Given the description of an element on the screen output the (x, y) to click on. 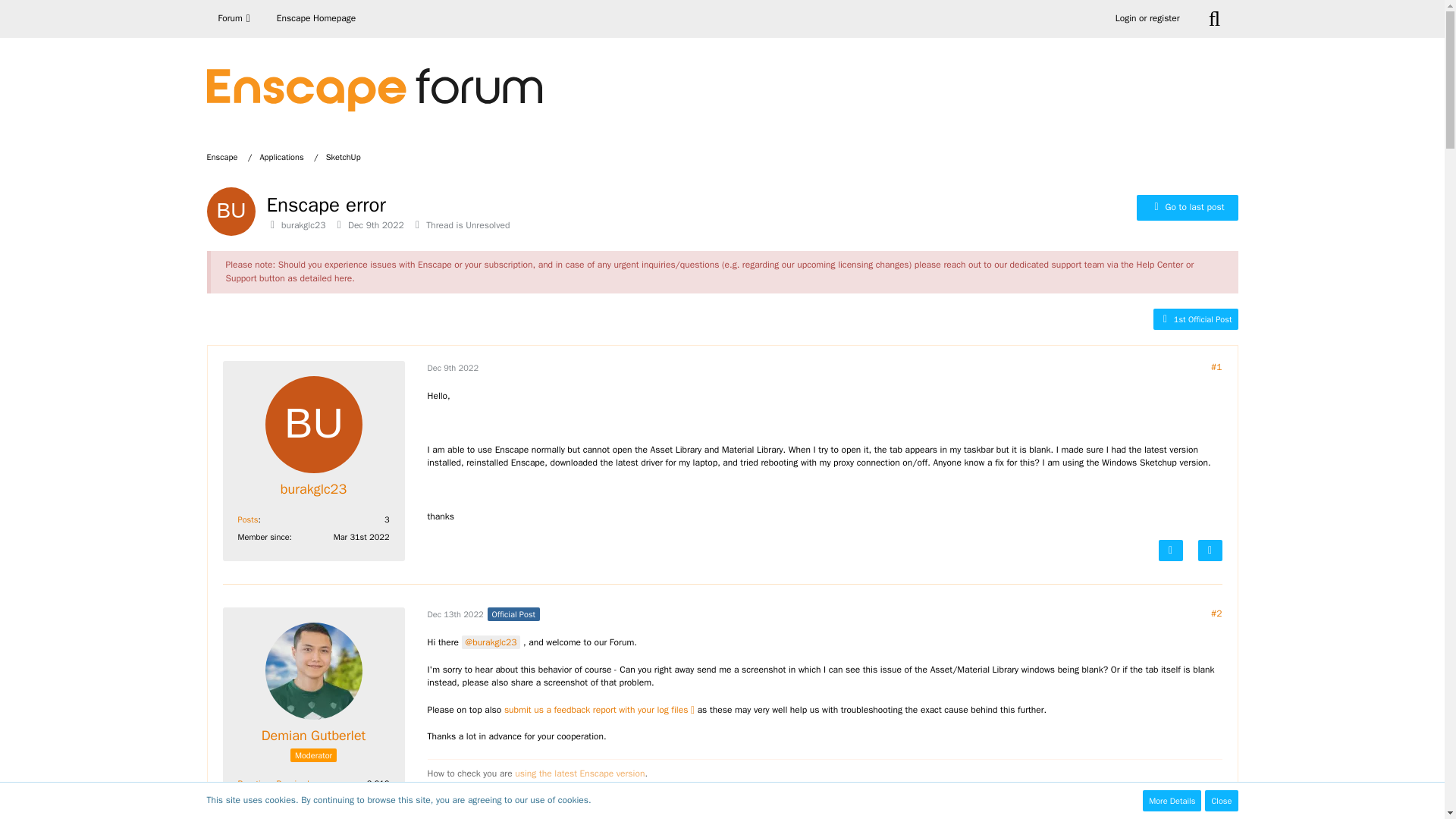
Forum (235, 18)
burakglc23 (313, 488)
Posts by Demian Gutberlet (248, 800)
Quote (1210, 550)
Login or register (1147, 18)
1st Official Post (1195, 318)
Share (1216, 367)
SketchUp (343, 156)
Dec 9th 2022 (375, 224)
Applications (280, 156)
SketchUp (343, 156)
Posts by burakglc23 (248, 519)
Enscape Homepage (315, 18)
Dec 9th 2022 (453, 367)
Jump to last post (1188, 207)
